Given the description of an element on the screen output the (x, y) to click on. 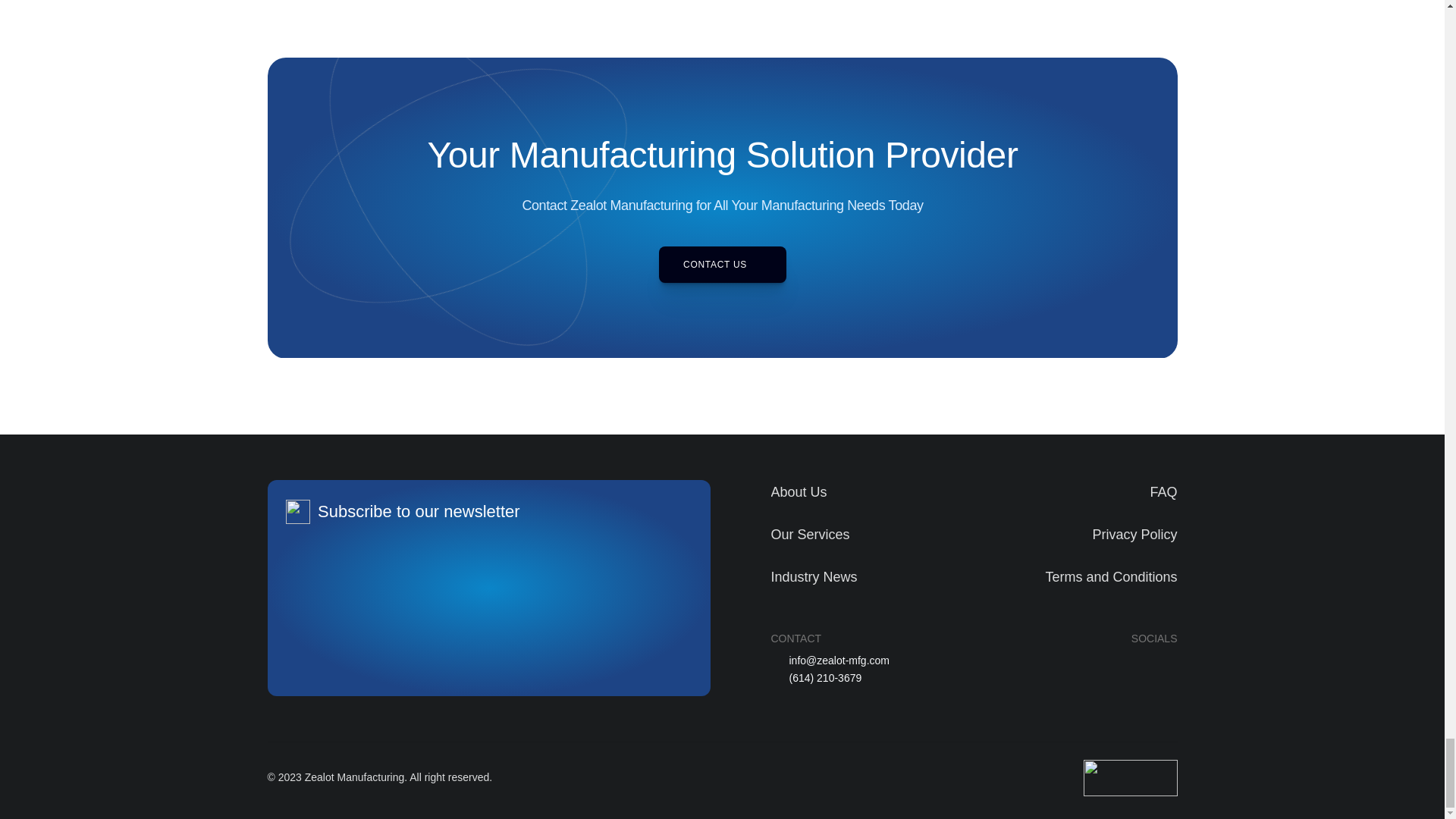
Our Services (809, 534)
CONTACT US (722, 264)
About Us (798, 491)
Privacy Policy (1134, 534)
FAQ (1163, 491)
Industry News (813, 576)
Terms and Conditions (1110, 576)
